Given the description of an element on the screen output the (x, y) to click on. 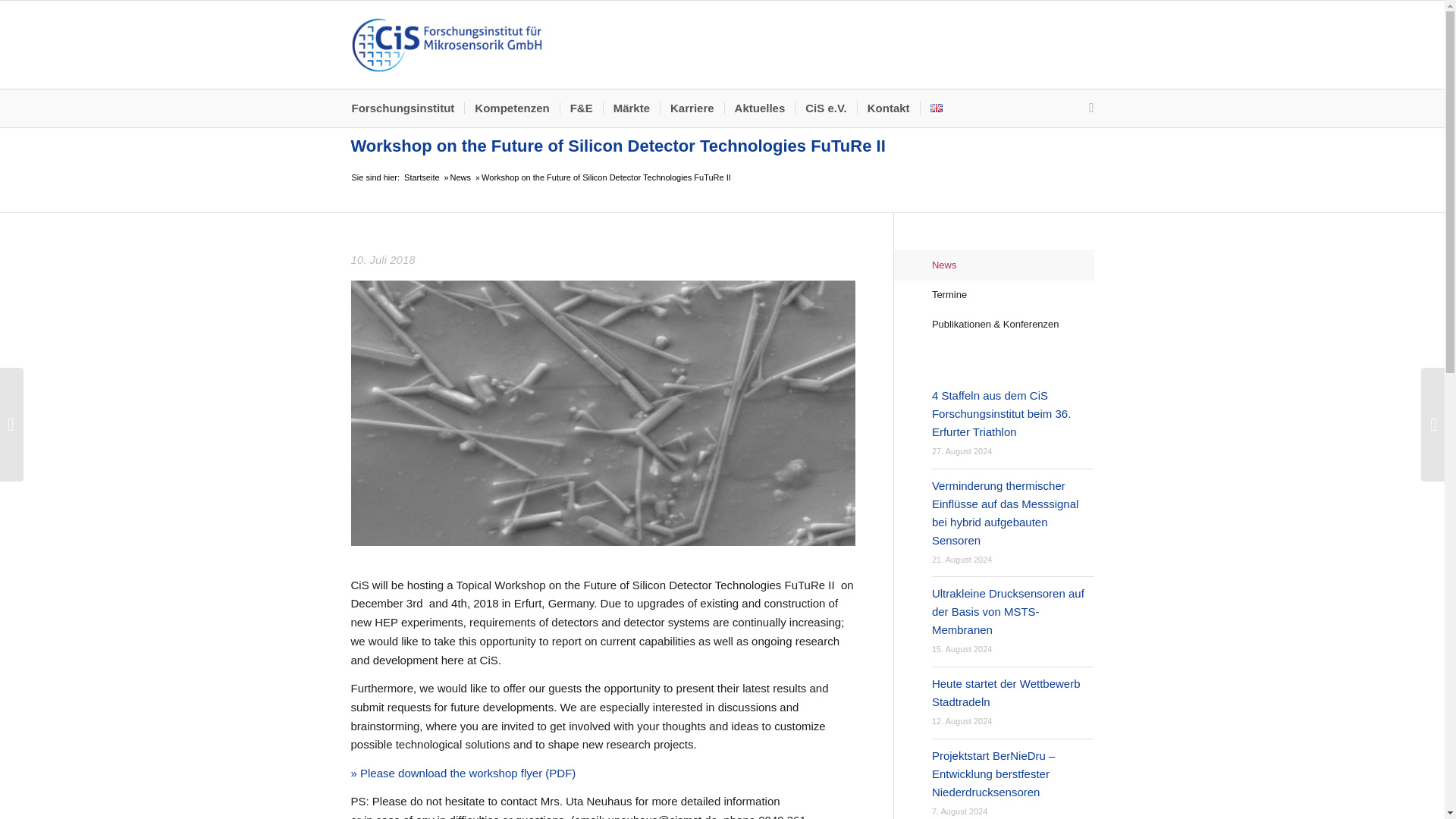
CiS (421, 177)
10. Juli 2018 (602, 260)
Zur Startseite (445, 44)
Aktuelles (758, 108)
Forschungsinstitut (407, 108)
Kompetenzen (511, 108)
Karriere (691, 108)
